Given the description of an element on the screen output the (x, y) to click on. 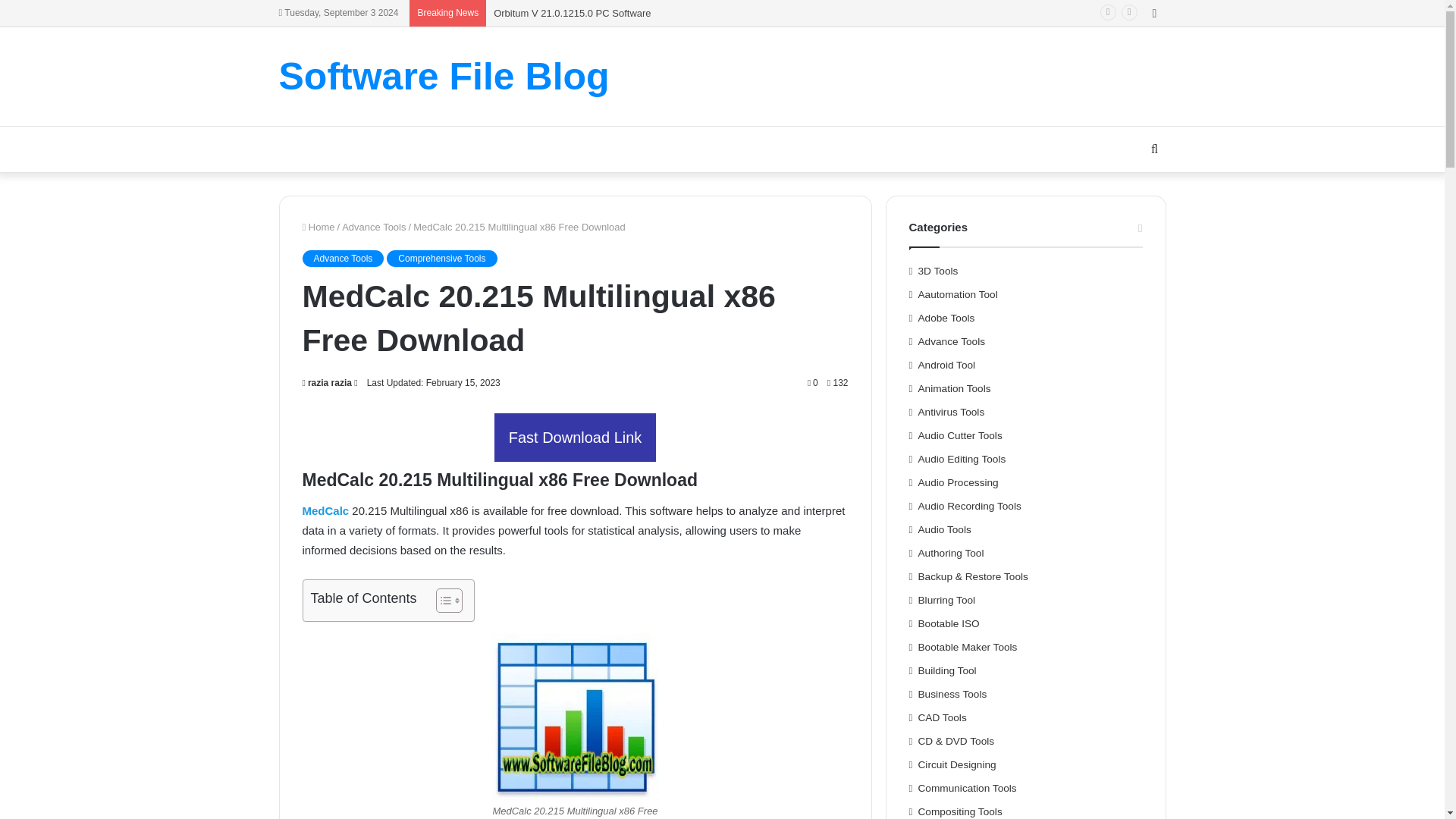
Orbitum V 21.0.1215.0 PC Software (571, 12)
Comprehensive Tools (441, 258)
Software File Blog (444, 76)
MedCalc (325, 510)
Advance Tools (374, 226)
MedCalc 20.215 Multilingual x86 Free Download (575, 716)
Advance Tools (342, 258)
Home (317, 226)
Fast Download Link (575, 438)
razia razia (325, 382)
